Given the description of an element on the screen output the (x, y) to click on. 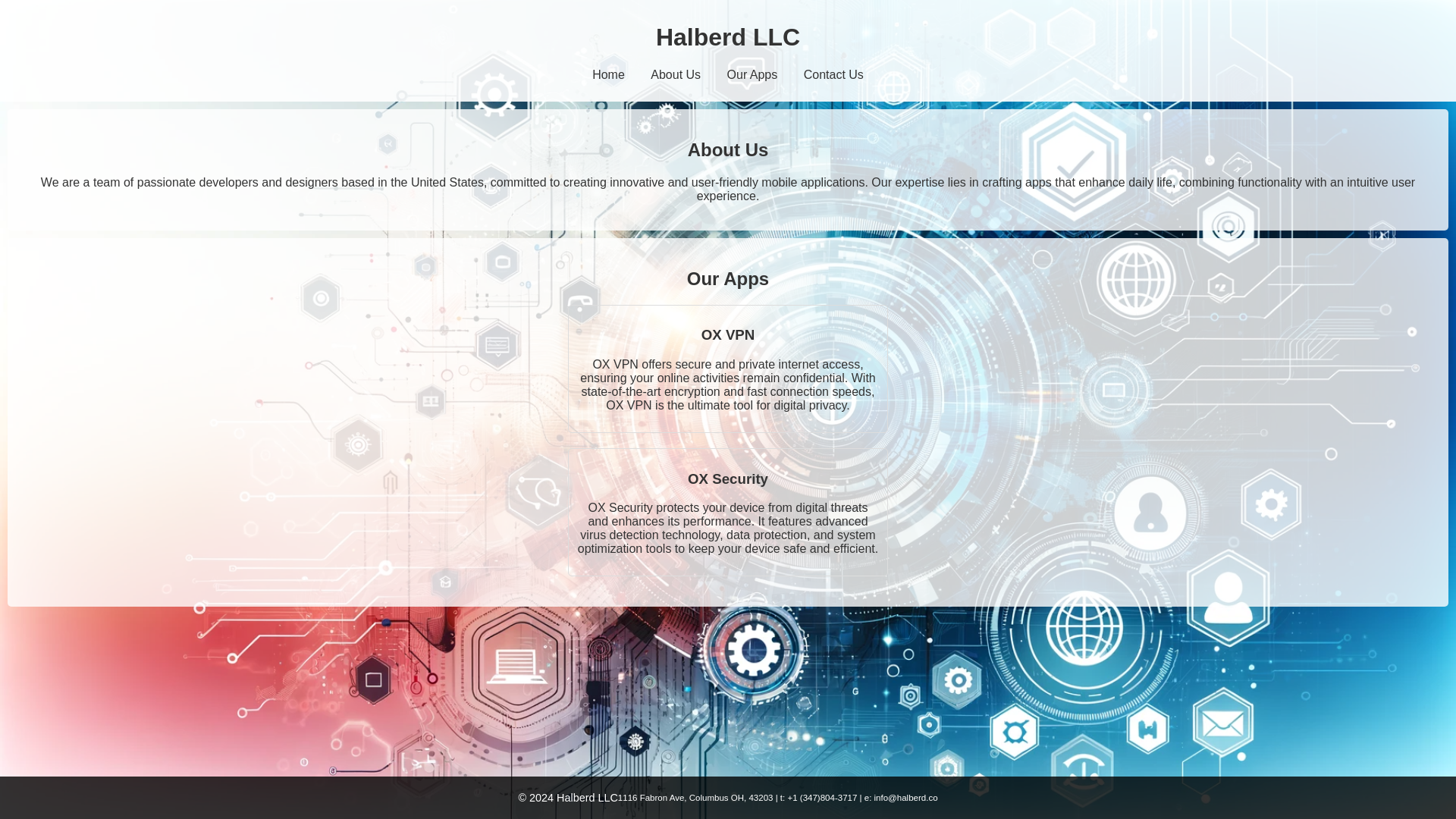
Contact Us (833, 74)
About Us (675, 74)
Our Apps (751, 74)
Home (608, 74)
